Given the description of an element on the screen output the (x, y) to click on. 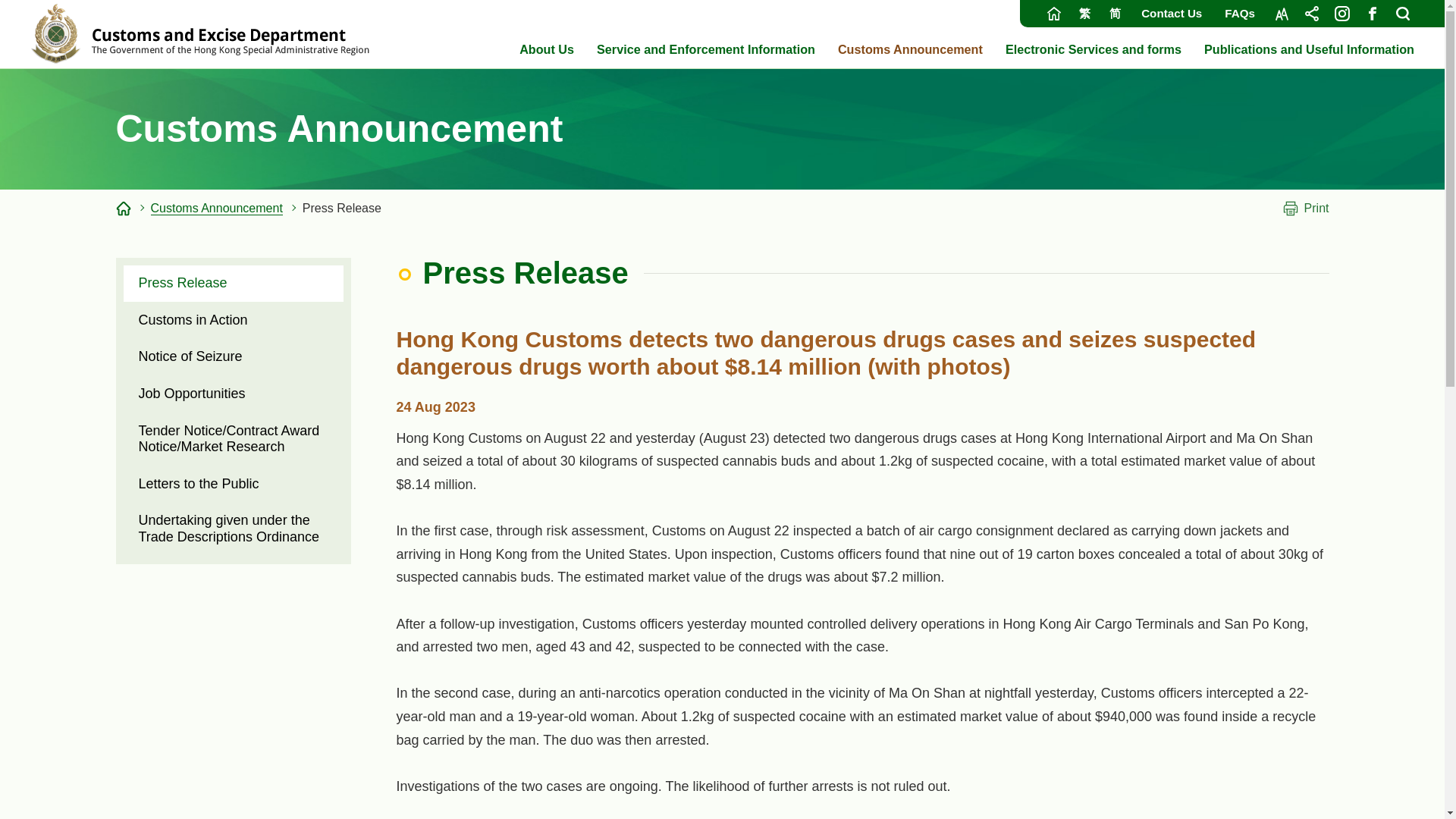
Font Size, This link will open in new window (1280, 13)
